Given the description of an element on the screen output the (x, y) to click on. 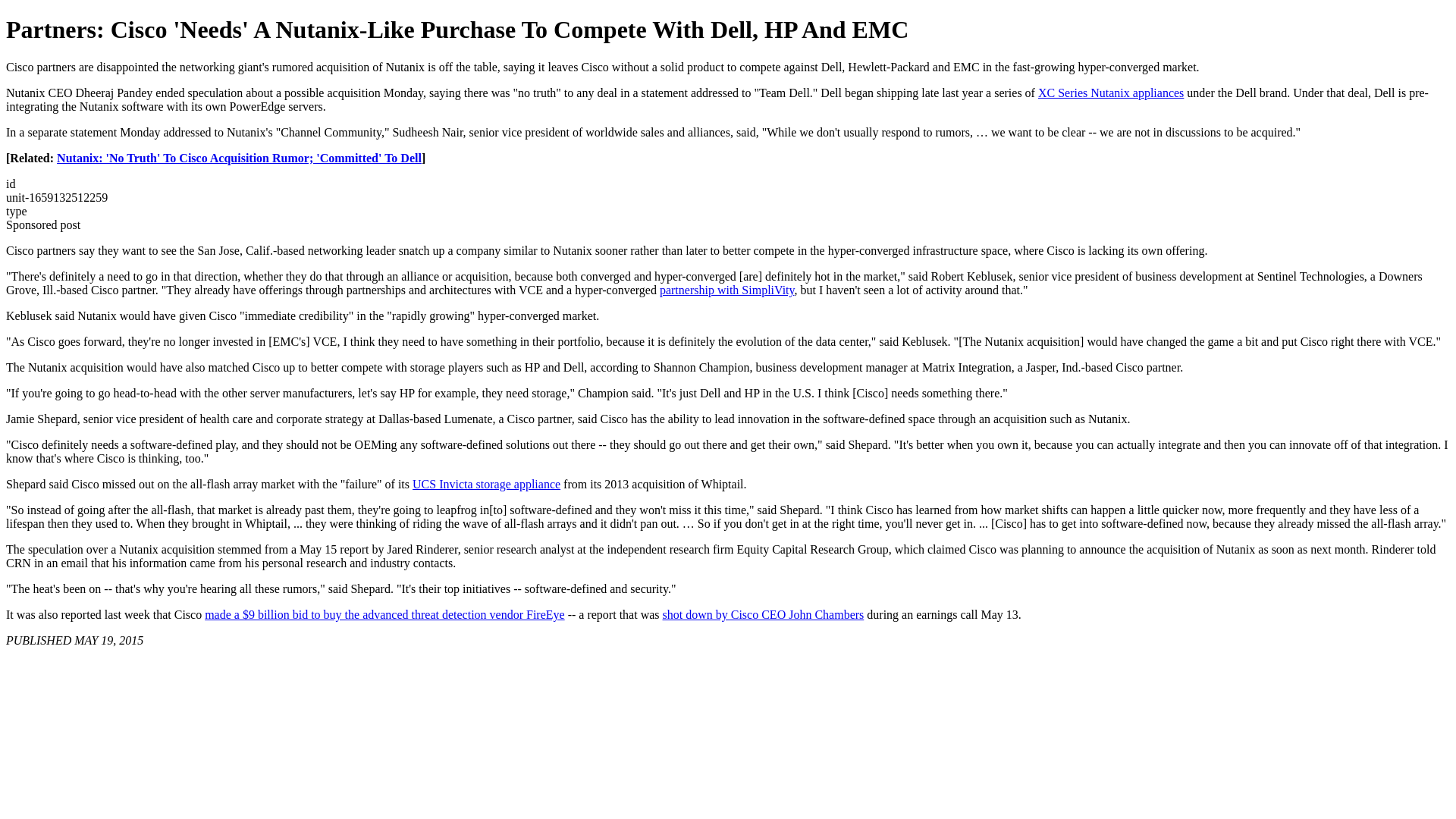
XC Series Nutanix appliances (1110, 92)
partnership with SimpliVity (726, 289)
shot down by Cisco CEO John Chambers (763, 614)
UCS Invicta storage appliance (486, 483)
